Given the description of an element on the screen output the (x, y) to click on. 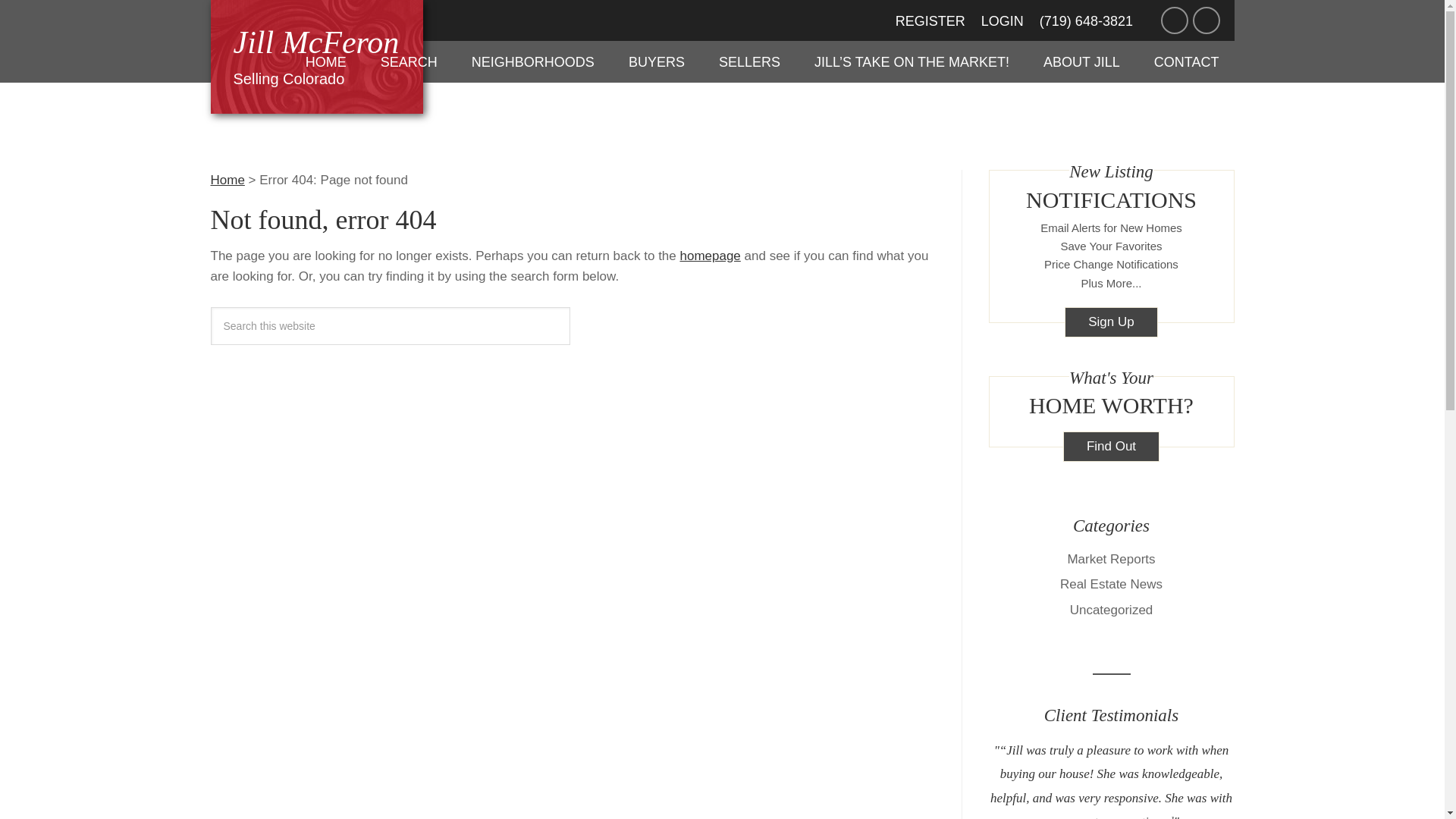
Real Estate News (1110, 584)
REGISTER (930, 20)
Market Reports (316, 56)
Search (1110, 559)
NEIGHBORHOODS (1147, 816)
HOME (532, 62)
SELLERS (325, 62)
SEARCH (749, 62)
Search (409, 62)
Sign Up (1081, 62)
Find Out (1110, 322)
CONTACT (1110, 446)
